Given the description of an element on the screen output the (x, y) to click on. 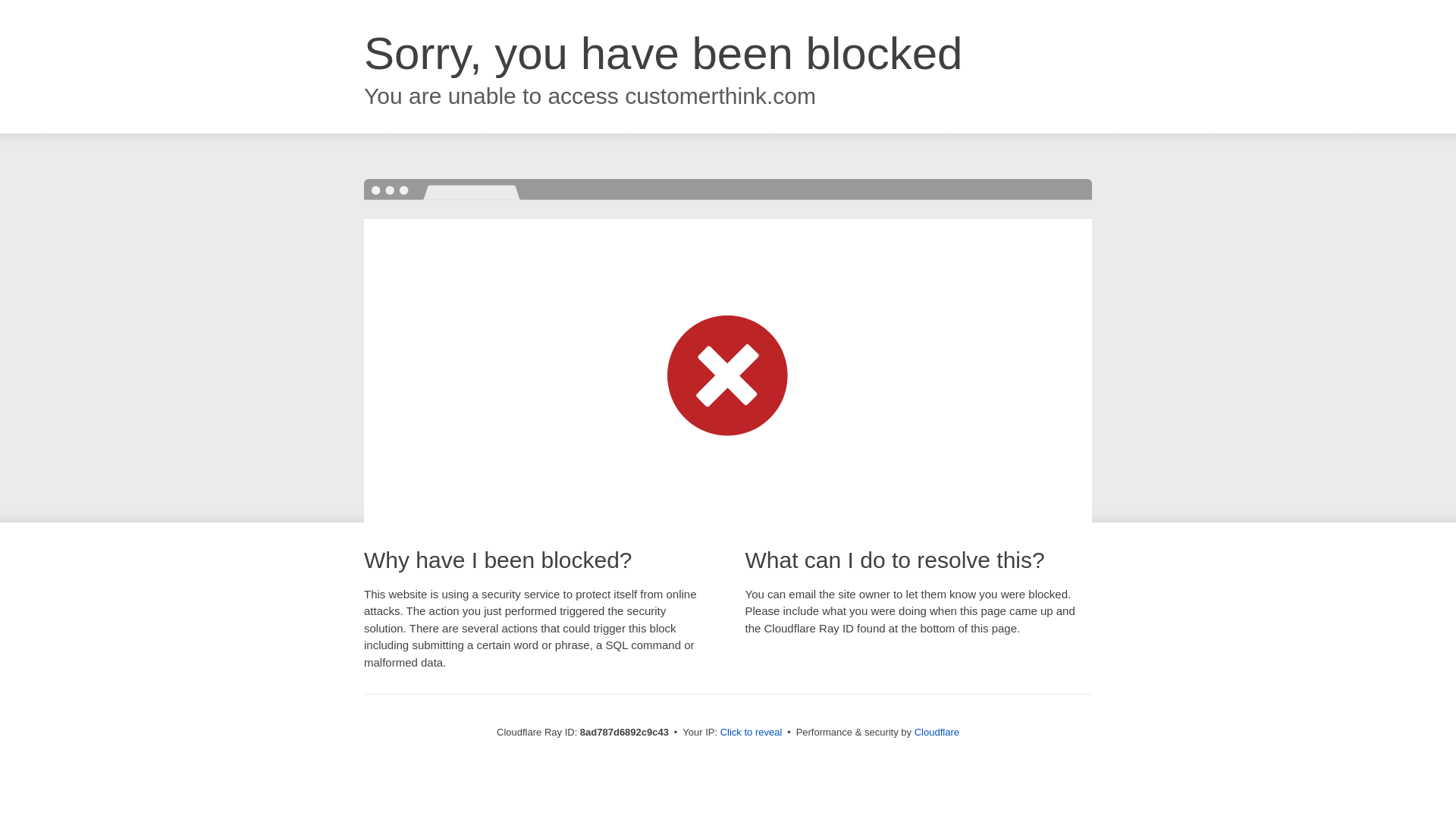
Cloudflare (936, 731)
Click to reveal (751, 732)
